Given the description of an element on the screen output the (x, y) to click on. 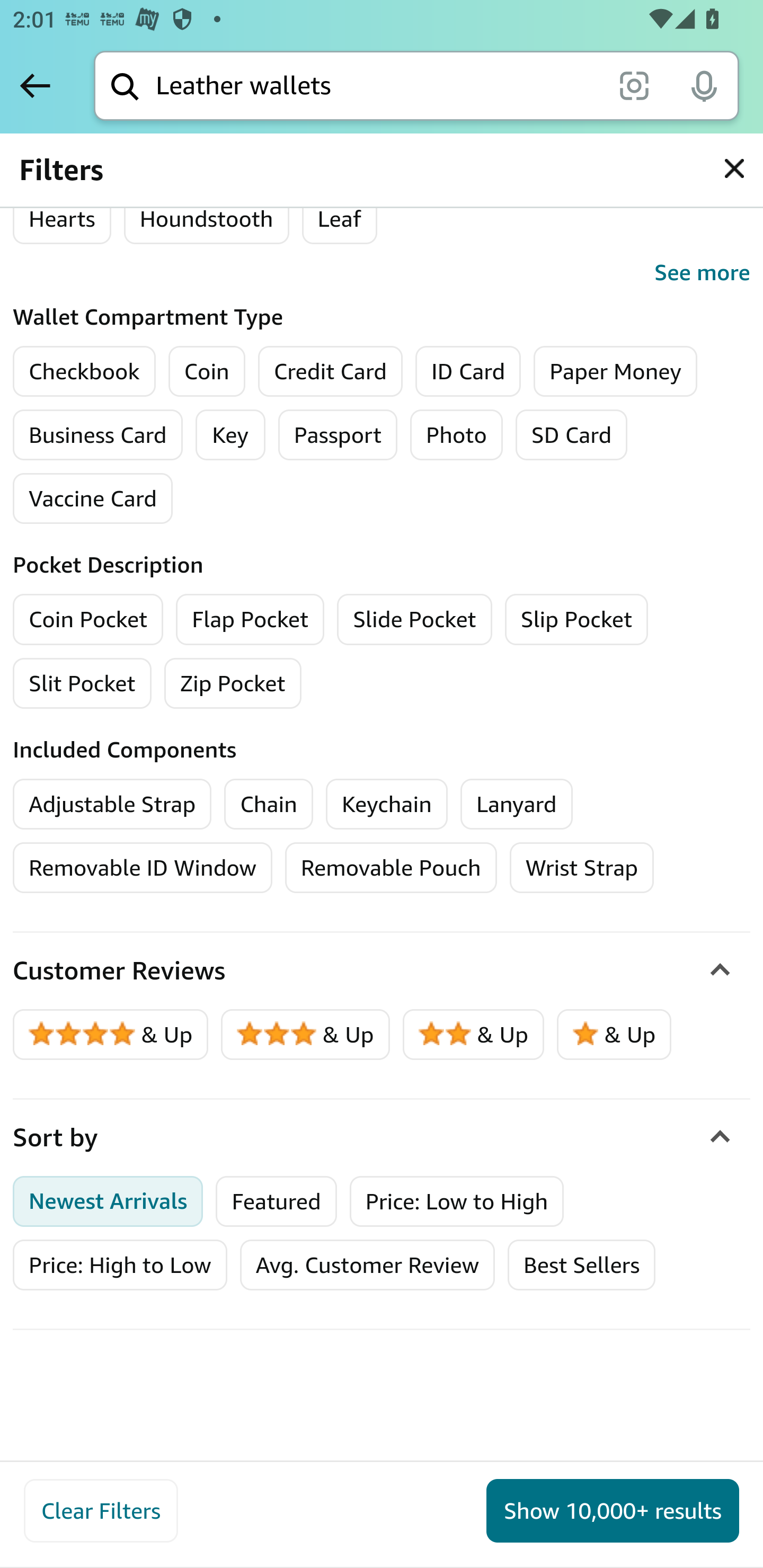
Back (35, 85)
scan it (633, 85)
Checkered (80, 157)
Hearts (61, 218)
Houndstooth (205, 218)
Leaf (339, 218)
See more, Pattern See more (381, 271)
Checkbook (83, 370)
Coin (206, 370)
Credit Card (330, 370)
ID Card (468, 370)
Paper Money (615, 370)
Business Card (97, 433)
Key (229, 433)
Passport (337, 433)
Photo (456, 433)
SD Card (571, 433)
Vaccine Card (92, 497)
Coin Pocket (88, 618)
Flap Pocket (249, 618)
Slide Pocket (414, 618)
Slip Pocket (575, 618)
Slit Pocket (82, 682)
Zip Pocket (233, 682)
Adjustable Strap (112, 803)
Chain (269, 803)
Keychain (386, 803)
Lanyard (516, 803)
Removable ID Window (142, 867)
Removable Pouch (390, 867)
Wrist Strap (581, 867)
Customer Reviews (381, 971)
4 Stars & Up (110, 1035)
3 Stars & Up (305, 1035)
2 Stars & Up (473, 1035)
1 Star & Up (614, 1035)
Sort by (381, 1138)
Featured (275, 1201)
Price: Low to High (455, 1201)
Price: High to Low (119, 1266)
Avg. Customer Review (366, 1266)
Best Sellers (581, 1266)
Clear Filters (100, 1510)
Show 10,000+ results (612, 1510)
